Given the description of an element on the screen output the (x, y) to click on. 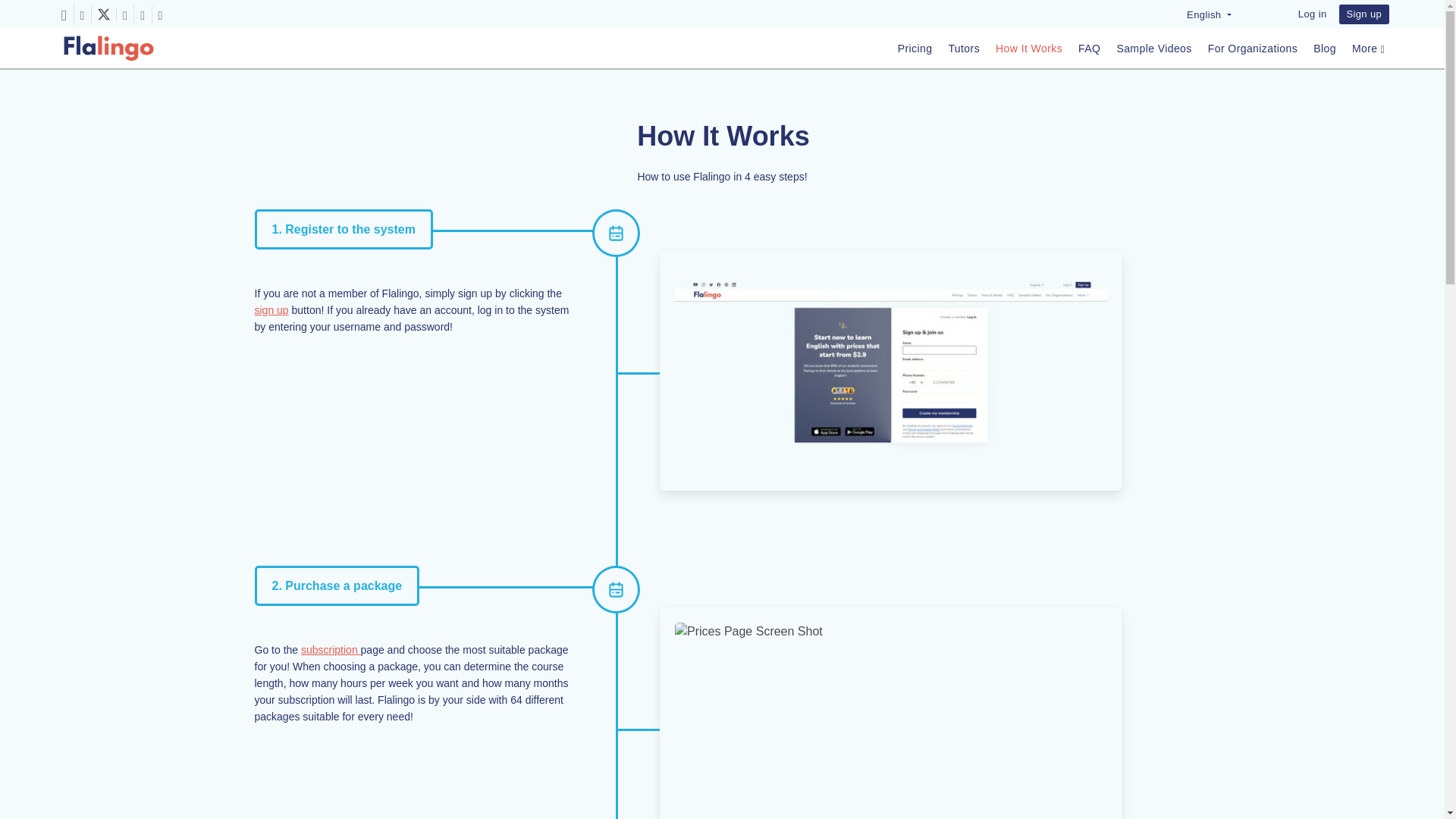
subscription (331, 649)
Sign up (1364, 14)
FAQ (1089, 48)
Tutors (963, 48)
Sample Videos (1153, 48)
English (1208, 14)
Pricing (915, 48)
For Organizations (1252, 48)
More (1368, 48)
sign up (271, 309)
Blog (1324, 48)
Log in (1312, 14)
How It Works (1028, 48)
